Given the description of an element on the screen output the (x, y) to click on. 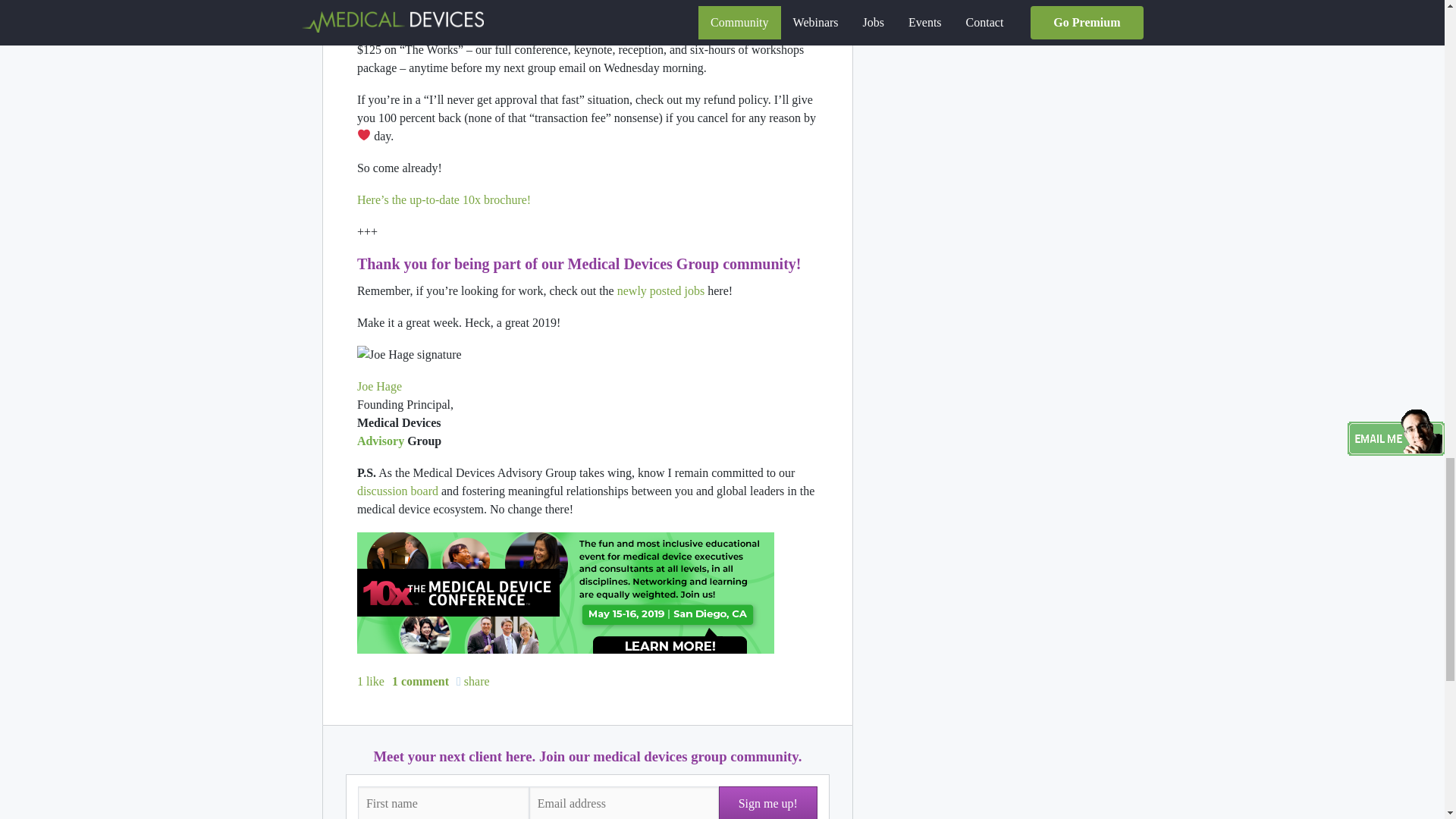
newly posted jobs (660, 290)
Please fill out this field (443, 802)
Joe Hage (378, 386)
discussion board (397, 490)
1 comment (419, 681)
BUCKTWENTYFIVE (712, 31)
Sign me up! (767, 802)
1 like (370, 681)
Sign me up! (767, 802)
 share (473, 681)
